Given the description of an element on the screen output the (x, y) to click on. 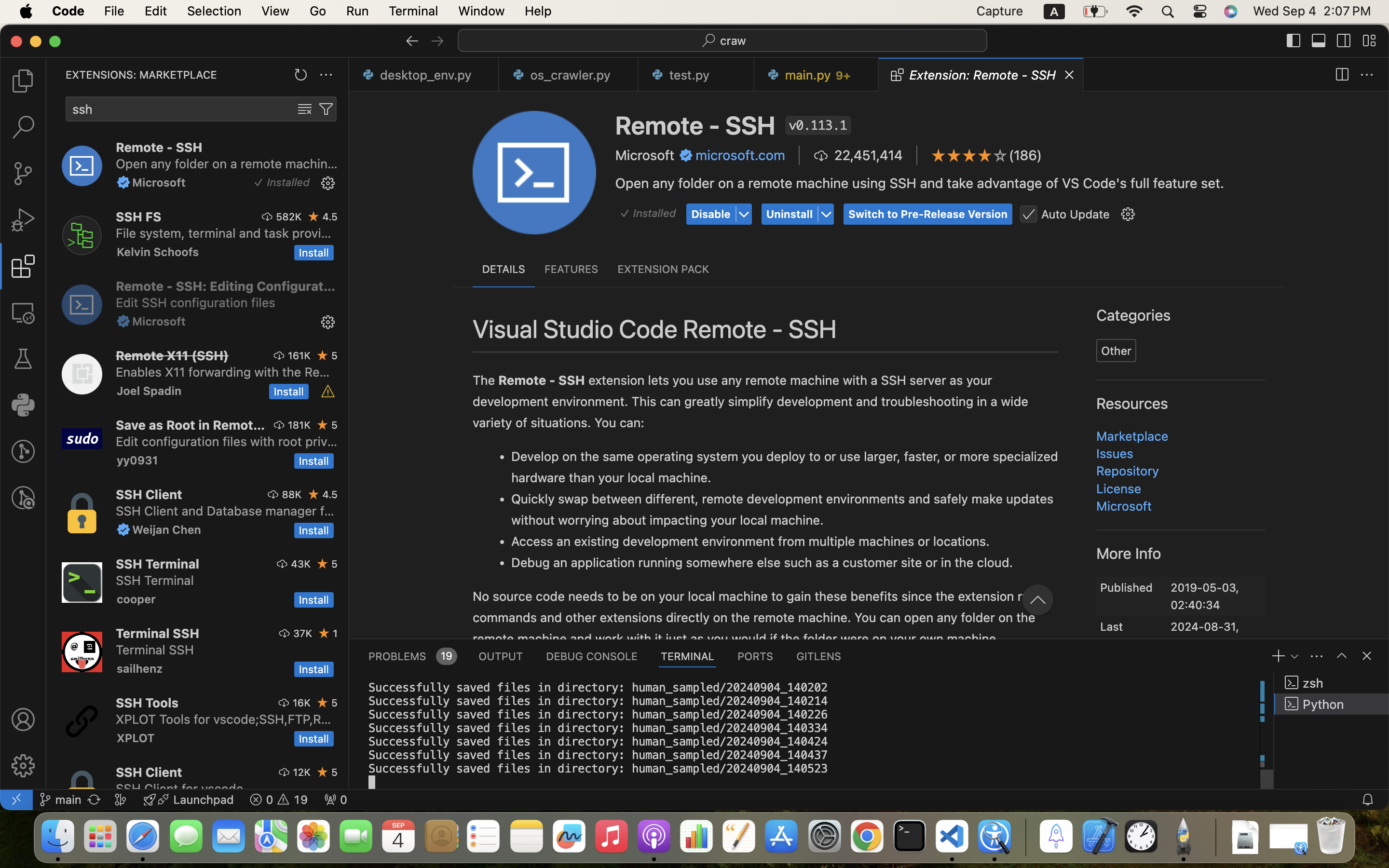
16K Element type: AXStaticText (301, 702)
 Element type: AXGroup (23, 451)
v0.113.1 Element type: AXStaticText (818, 125)
582K Element type: AXStaticText (288, 216)
 Element type: AXButton (304, 108)
